Given the description of an element on the screen output the (x, y) to click on. 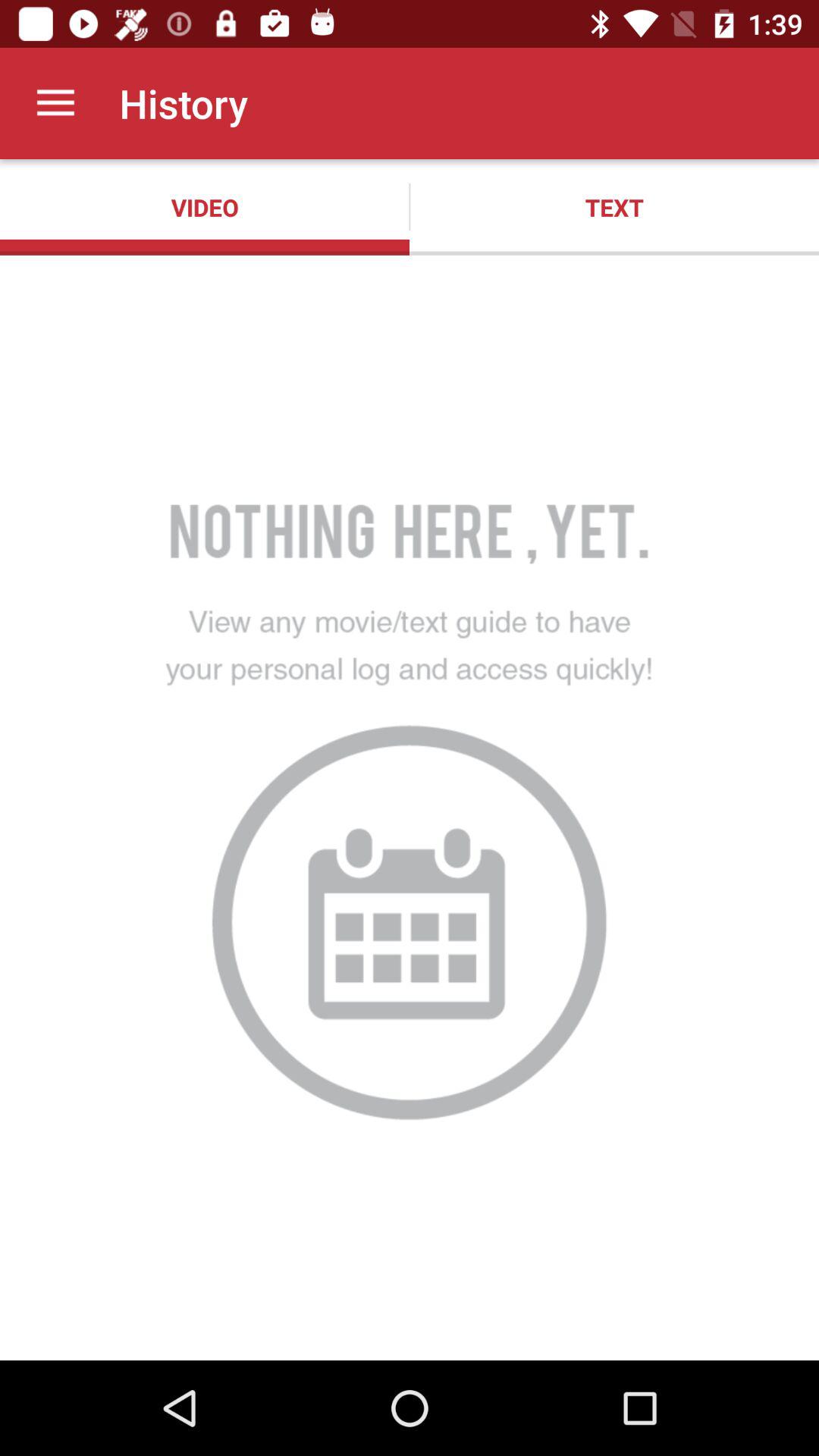
click the app to the left of the history (55, 103)
